Given the description of an element on the screen output the (x, y) to click on. 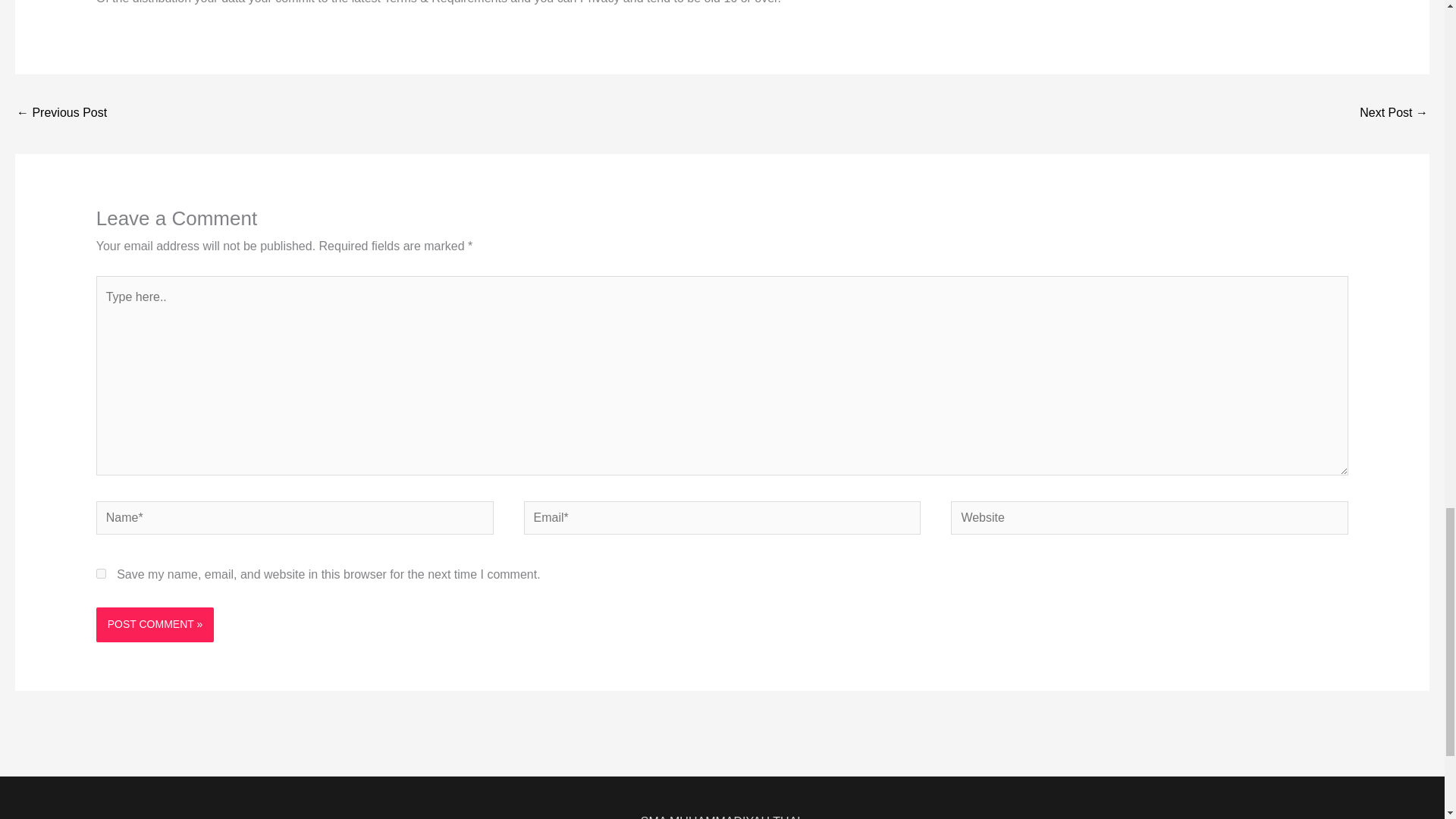
yes (101, 573)
